Given the description of an element on the screen output the (x, y) to click on. 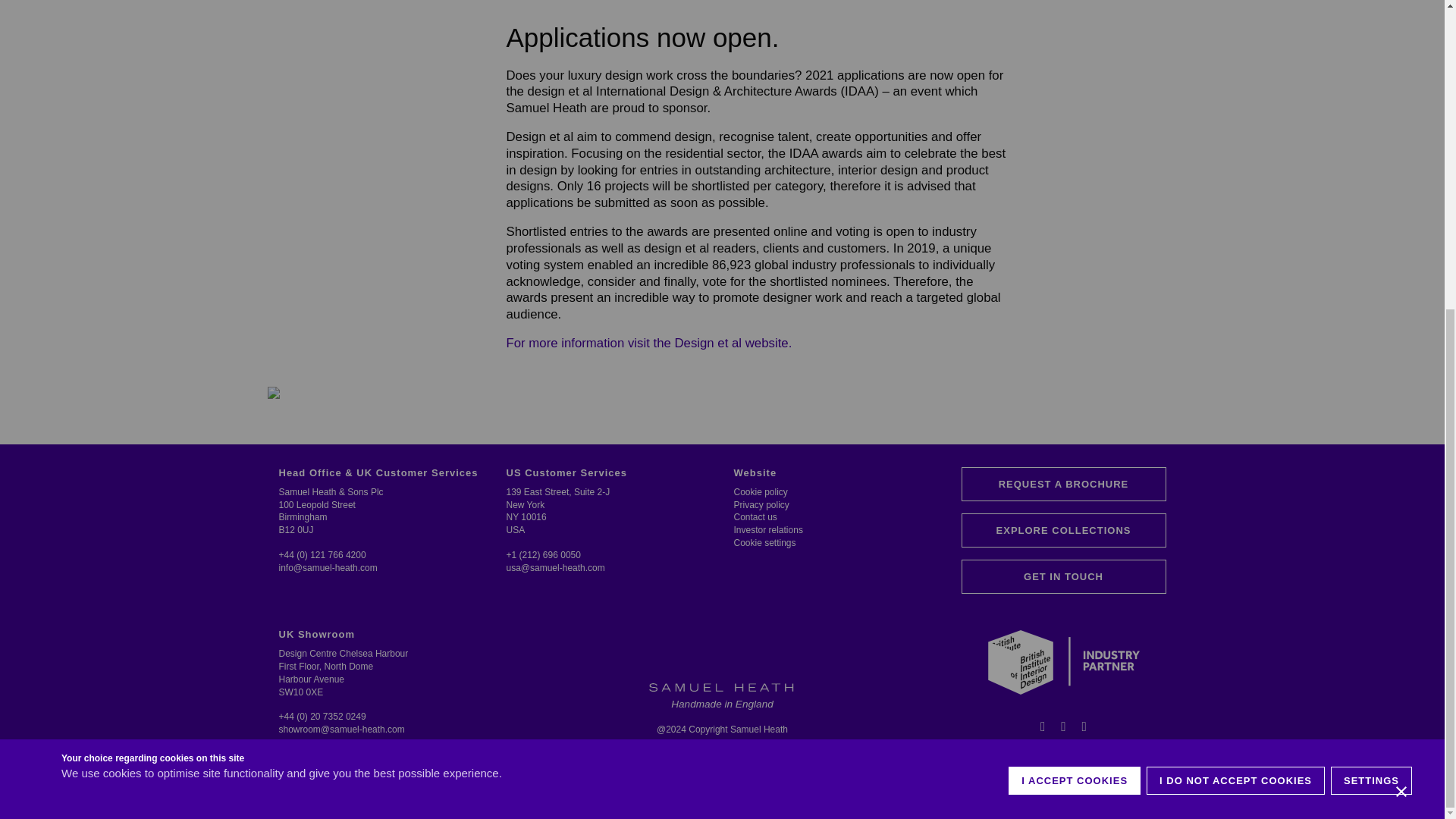
SETTINGS (1371, 331)
I DO NOT ACCEPT COOKIES (1235, 338)
I ACCEPT COOKIES (1074, 346)
